Given the description of an element on the screen output the (x, y) to click on. 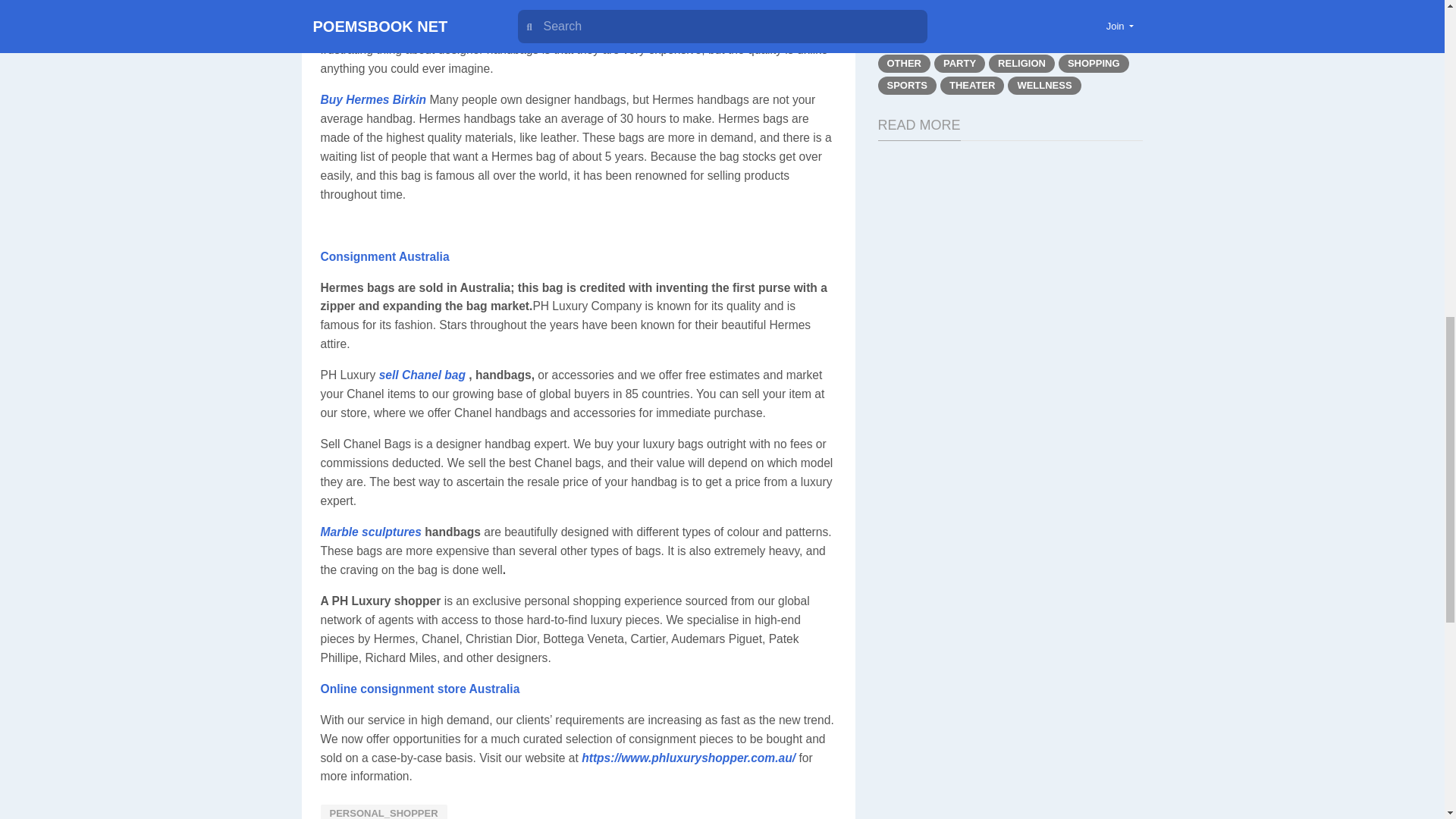
Consignment Australia (384, 256)
Marble sculptures (370, 531)
sell Chanel bag (421, 374)
Online consignment store Australia (419, 688)
Buy Hermes Birkin (373, 99)
